Given the description of an element on the screen output the (x, y) to click on. 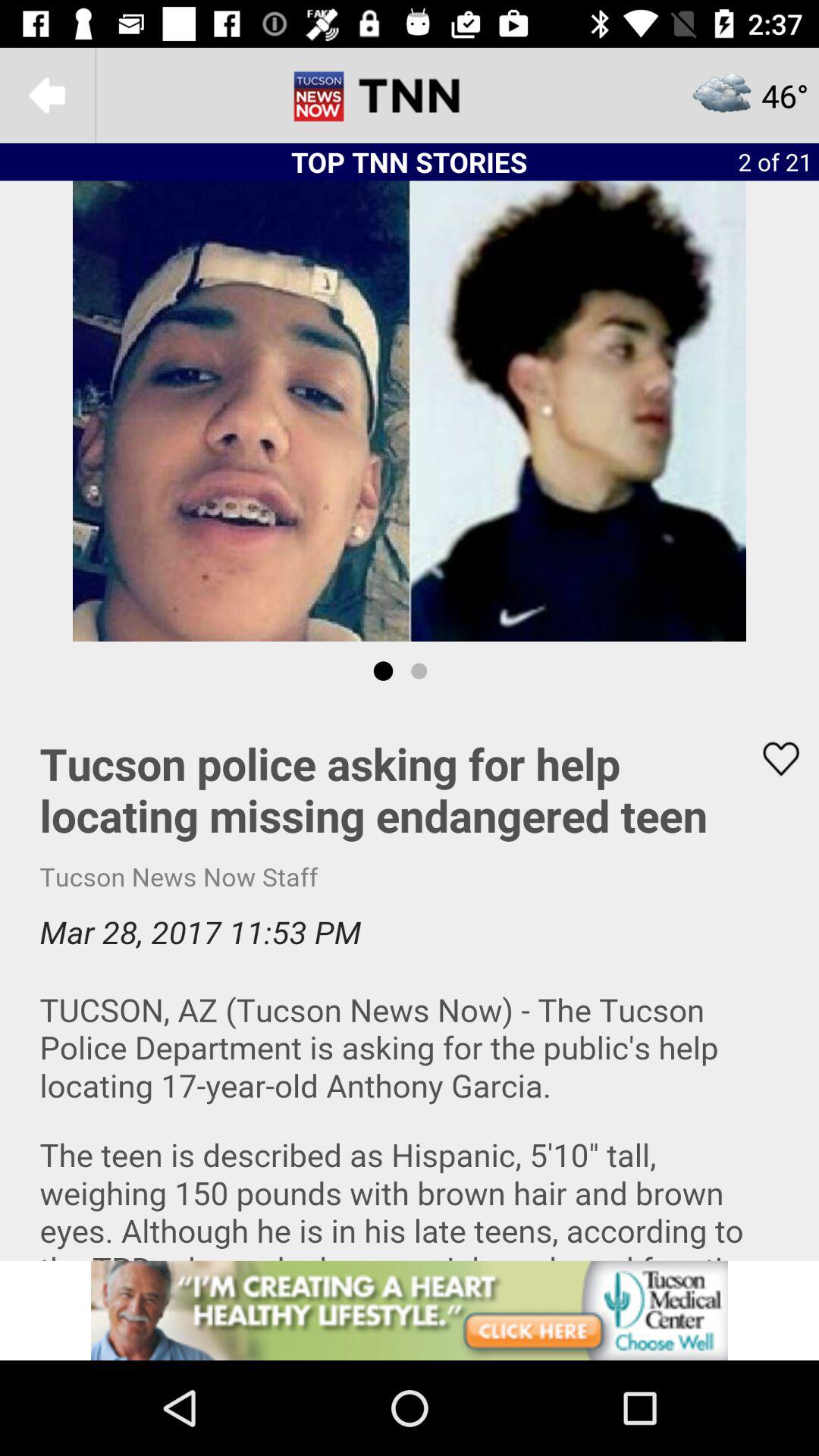
kold news 13 (409, 95)
